Given the description of an element on the screen output the (x, y) to click on. 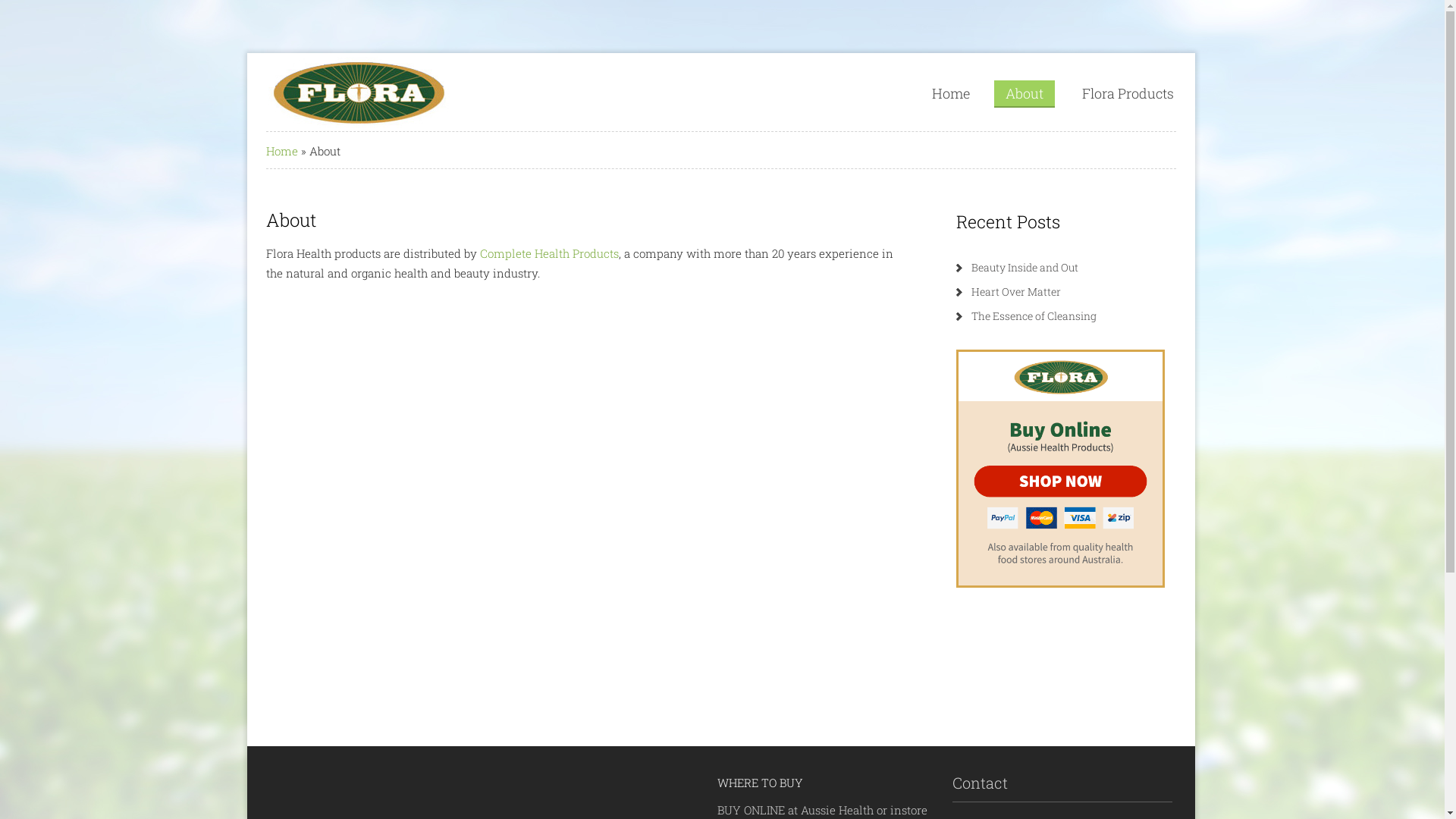
Home Element type: text (282, 150)
Heart Over Matter Element type: text (1015, 291)
Flora Products Element type: text (1127, 93)
Aussie Health Element type: text (836, 809)
The Essence of Cleansing Element type: text (1033, 315)
Beauty Inside and Out Element type: text (1024, 267)
Home Element type: text (950, 93)
About Element type: text (1024, 93)
Complete Health Products Element type: text (549, 252)
